Given the description of an element on the screen output the (x, y) to click on. 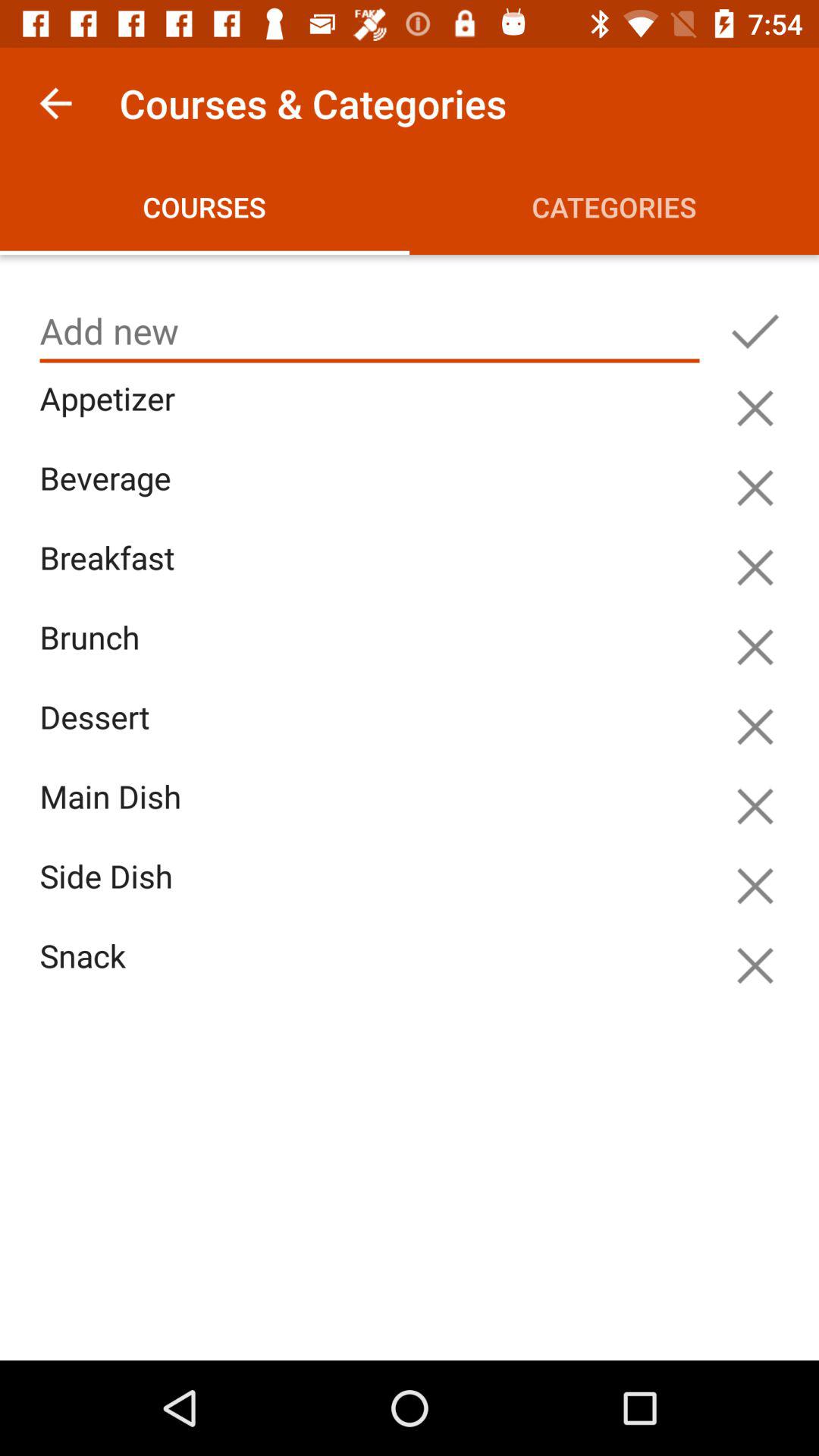
remove option (755, 647)
